Given the description of an element on the screen output the (x, y) to click on. 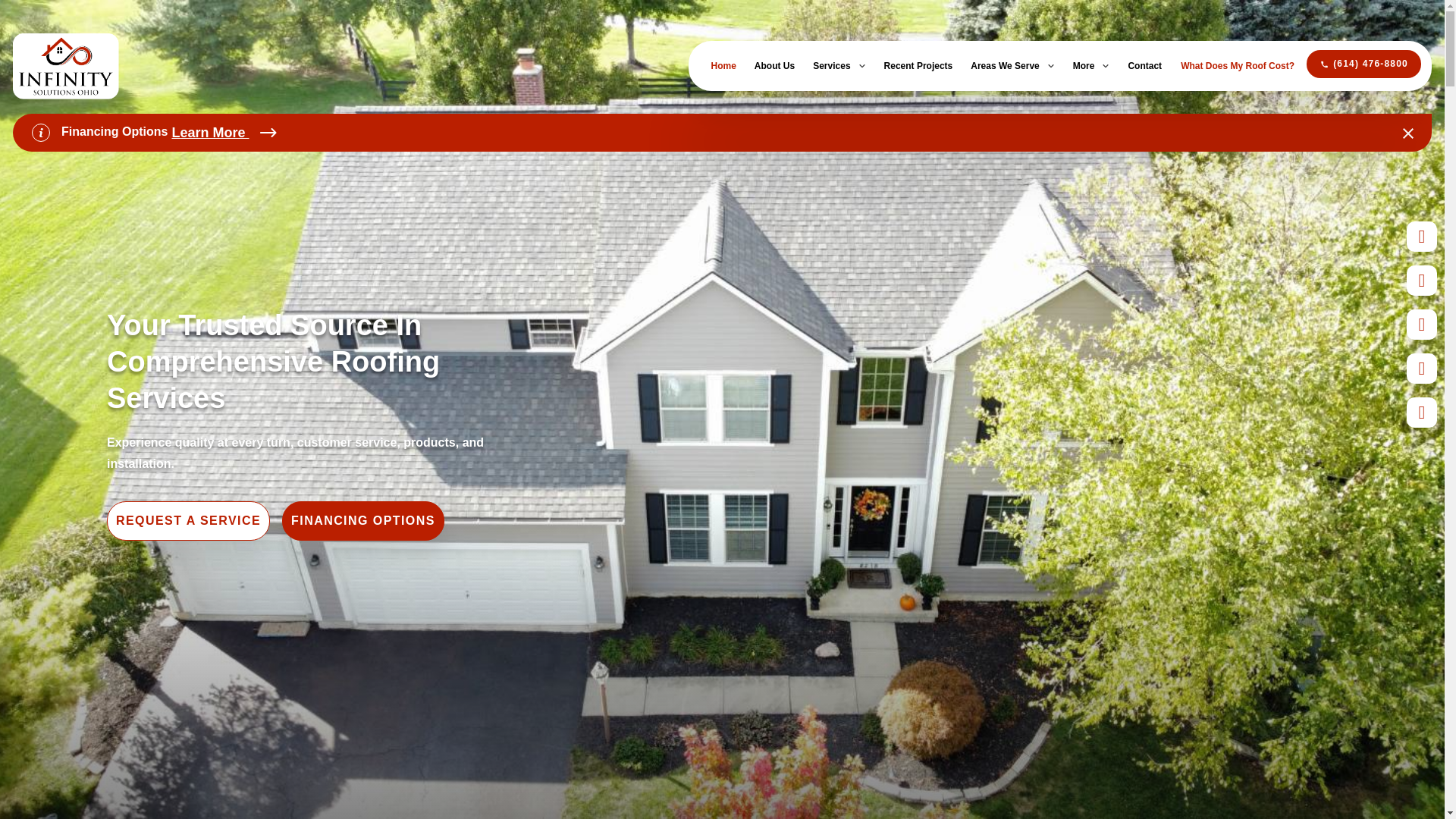
Learn More (223, 132)
Services (838, 65)
Recent Projects (918, 65)
Contact (1143, 65)
Home (723, 65)
More (1091, 65)
About Us (774, 65)
Areas We Serve (1012, 65)
